Given the description of an element on the screen output the (x, y) to click on. 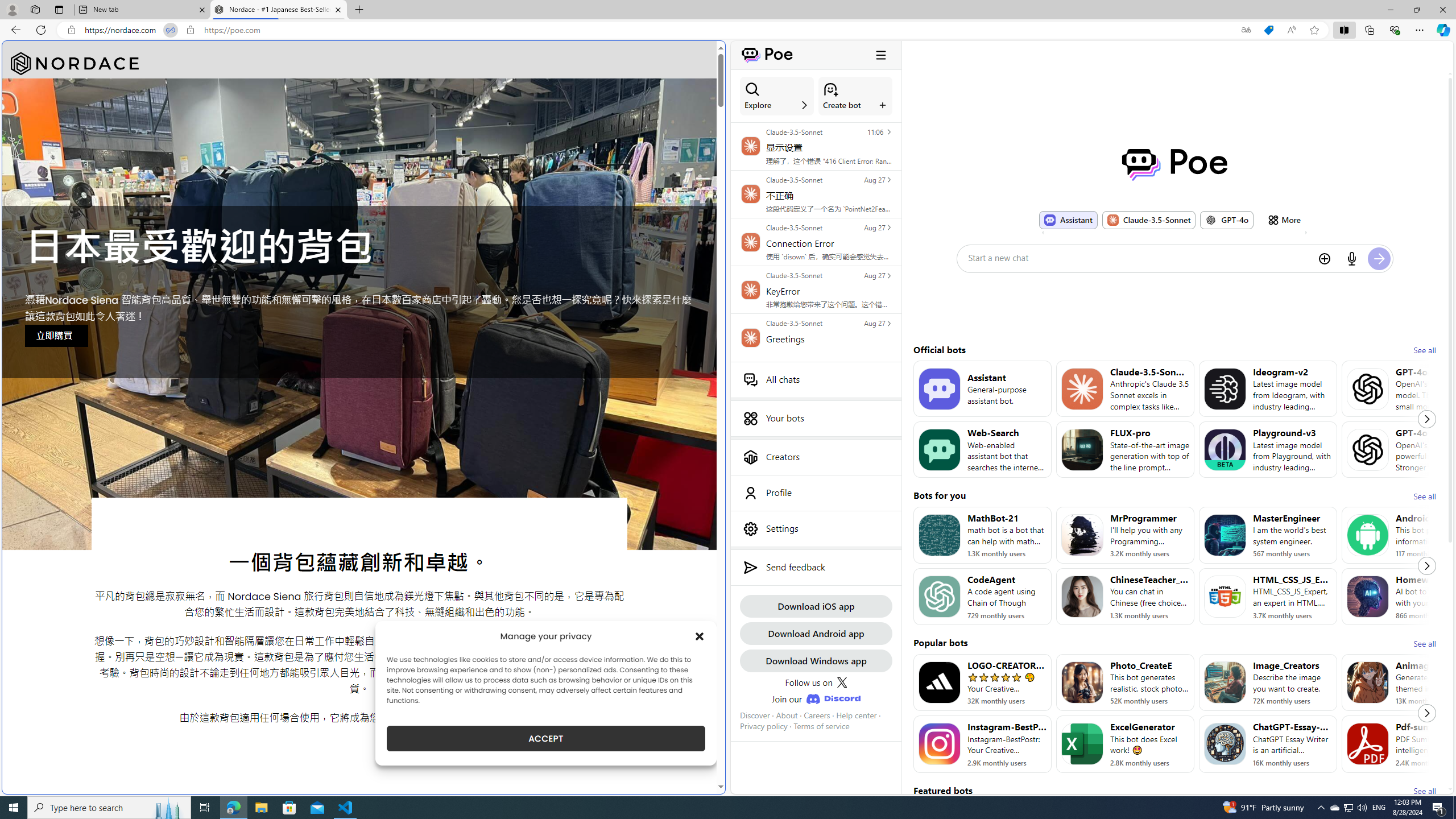
Bot image for Claude-3.5-Sonnet Claude-3.5-Sonnet (1148, 219)
Bot image for Instagram-BestPost (938, 743)
Class: FollowTwitterLink_twitterIconBlack__SS_7V (842, 682)
Terms of service (821, 726)
Profile (815, 493)
Class: ManageBotsCardSection_labelIcon__EjW_j (882, 104)
Class: cmplz-close (699, 636)
Next (1426, 713)
Create bot (855, 95)
